Given the description of an element on the screen output the (x, y) to click on. 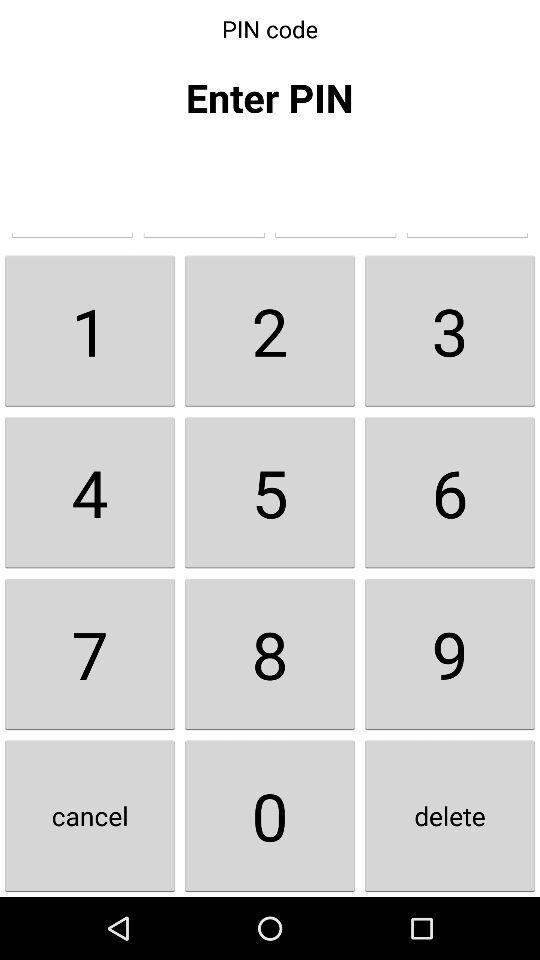
choose the item to the right of the 2 (450, 330)
